Given the description of an element on the screen output the (x, y) to click on. 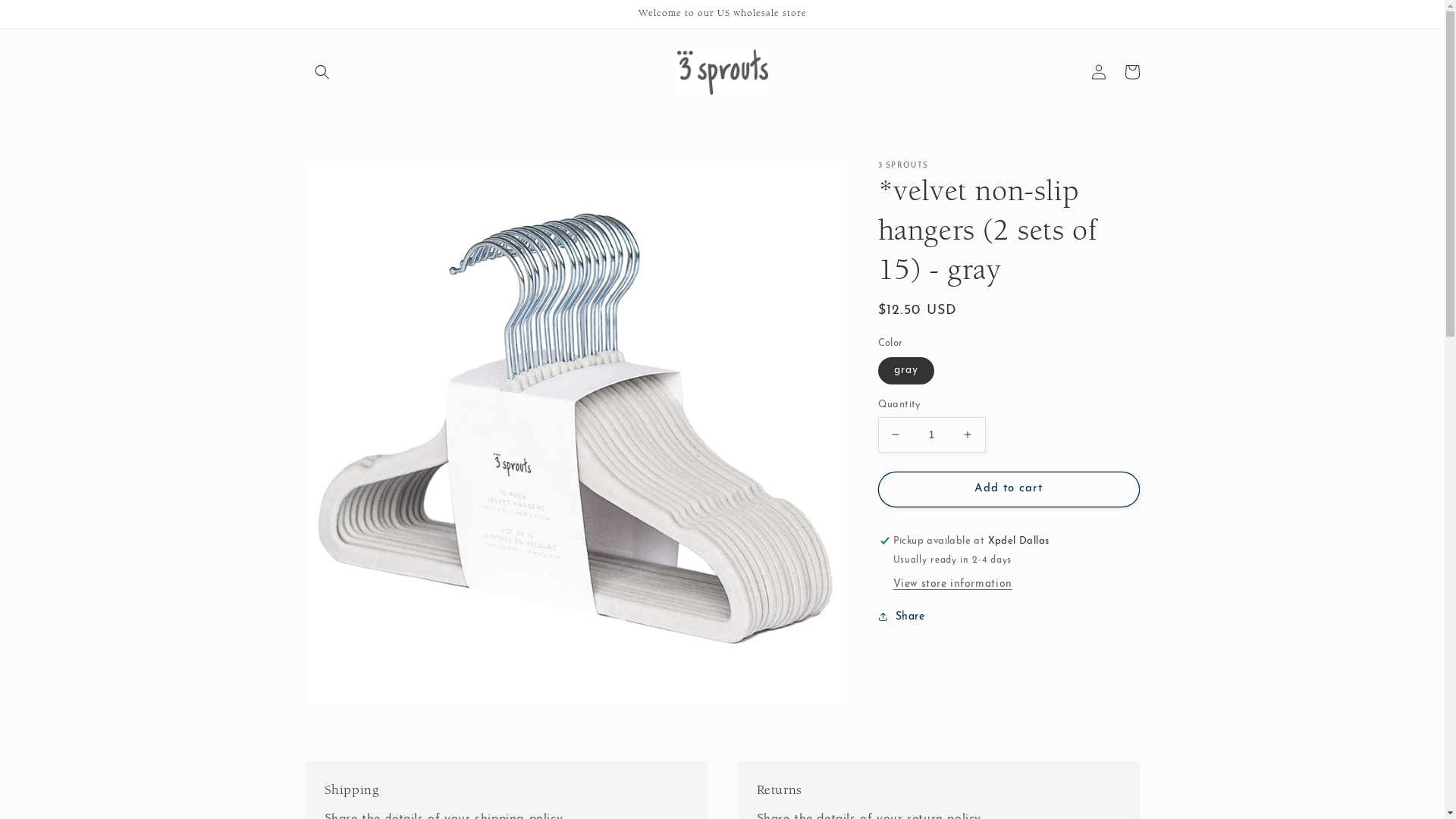
Cart Element type: text (1131, 71)
Order not valid Element type: text (1007, 53)
Add to cart Element type: text (1008, 489)
Log in Element type: text (1097, 71)
Skip to product information Element type: text (350, 178)
View store information Element type: text (952, 584)
